Given the description of an element on the screen output the (x, y) to click on. 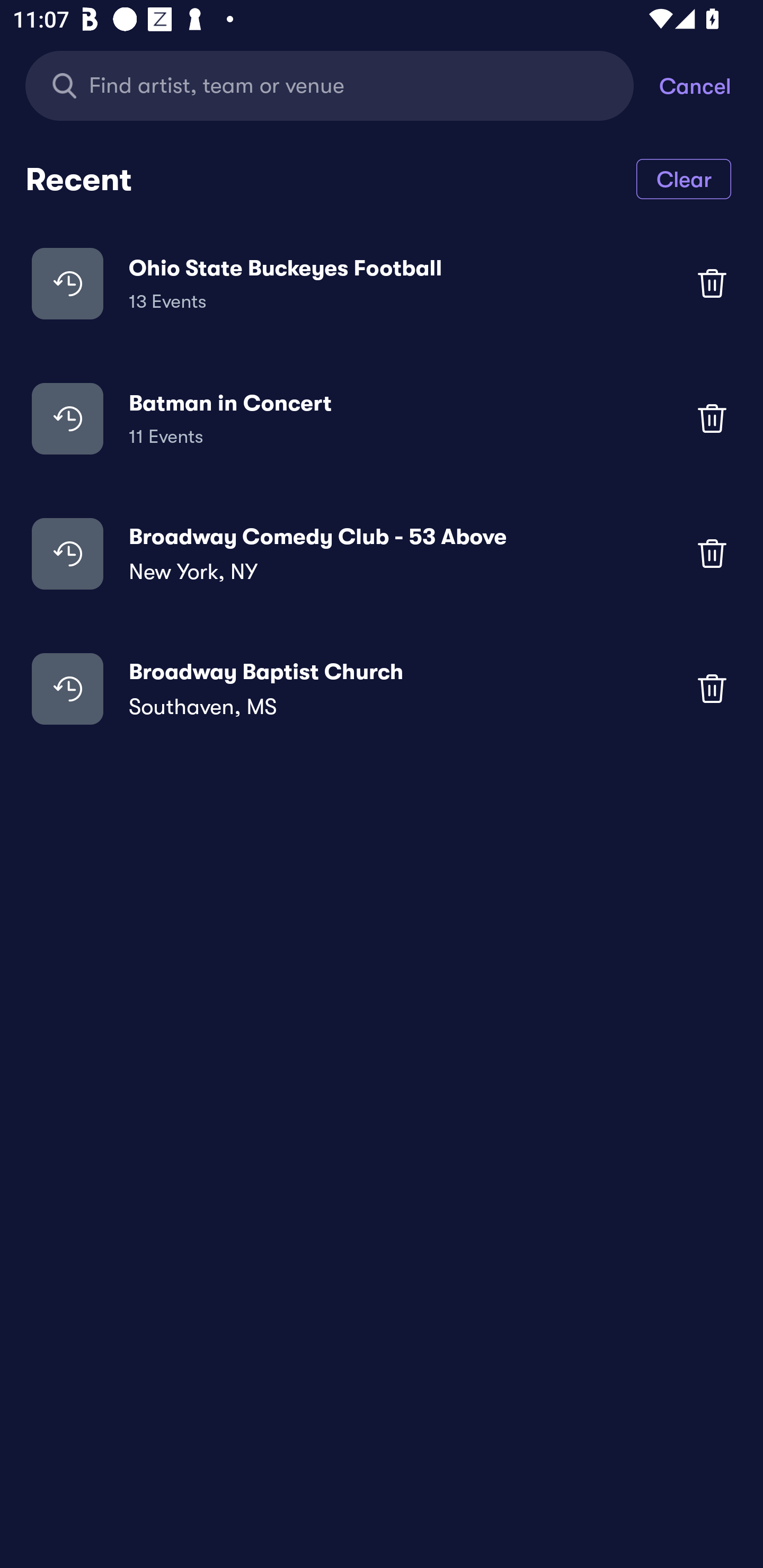
Find artist, team or venue Find (329, 85)
Find artist, team or venue Find (342, 85)
Cancel (711, 85)
Clear (683, 178)
Ohio State Buckeyes Football 13 Events (381, 282)
Batman in Concert 11 Events (381, 417)
Broadway Comedy Club - 53 Above New York, NY (381, 553)
Broadway Baptist Church Southaven, MS (381, 688)
